Given the description of an element on the screen output the (x, y) to click on. 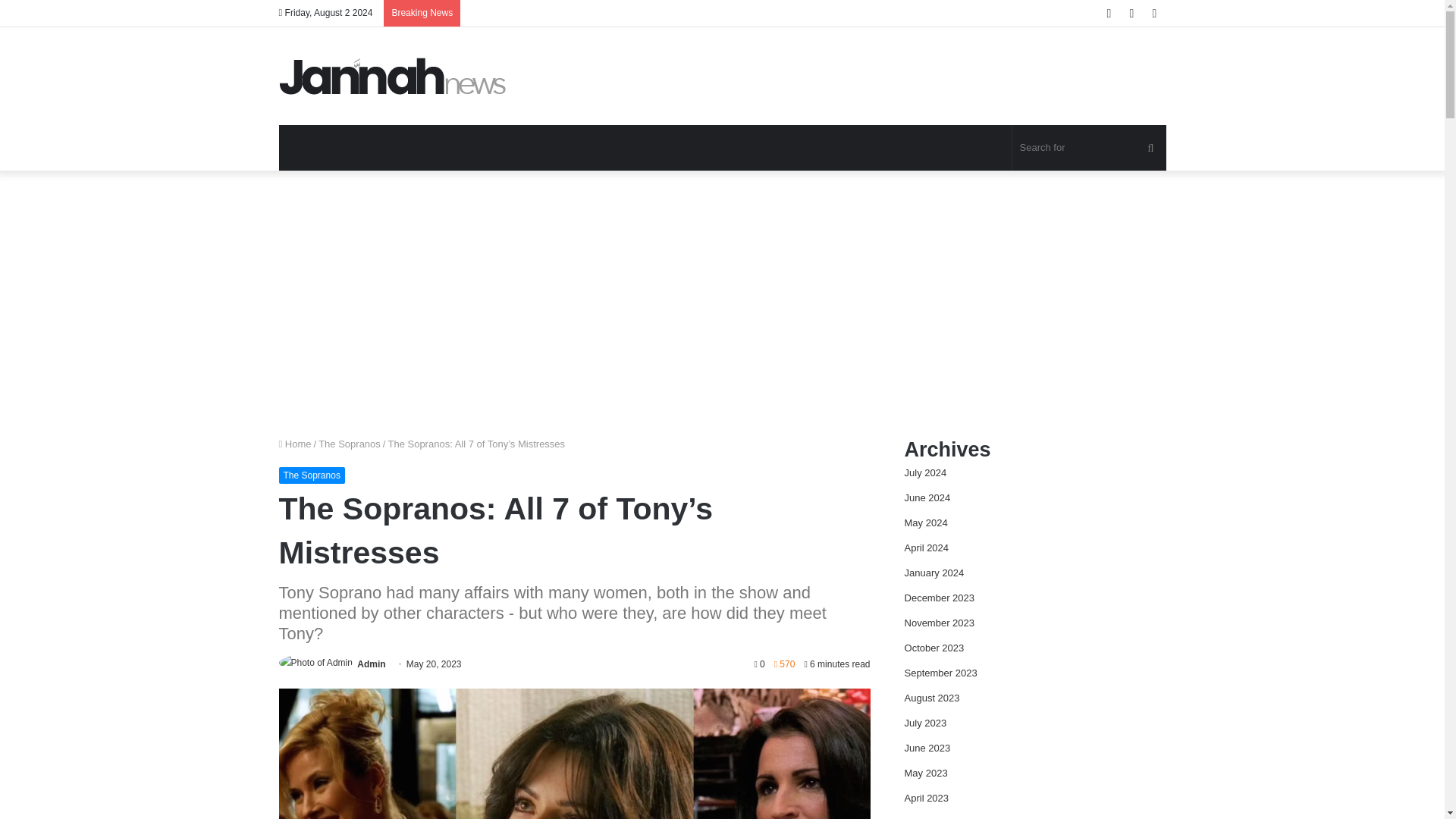
The Sopranos (349, 443)
Admin (370, 664)
Movie News (392, 76)
Search for (1088, 147)
Admin (370, 664)
The Sopranos (312, 475)
Home (295, 443)
